Given the description of an element on the screen output the (x, y) to click on. 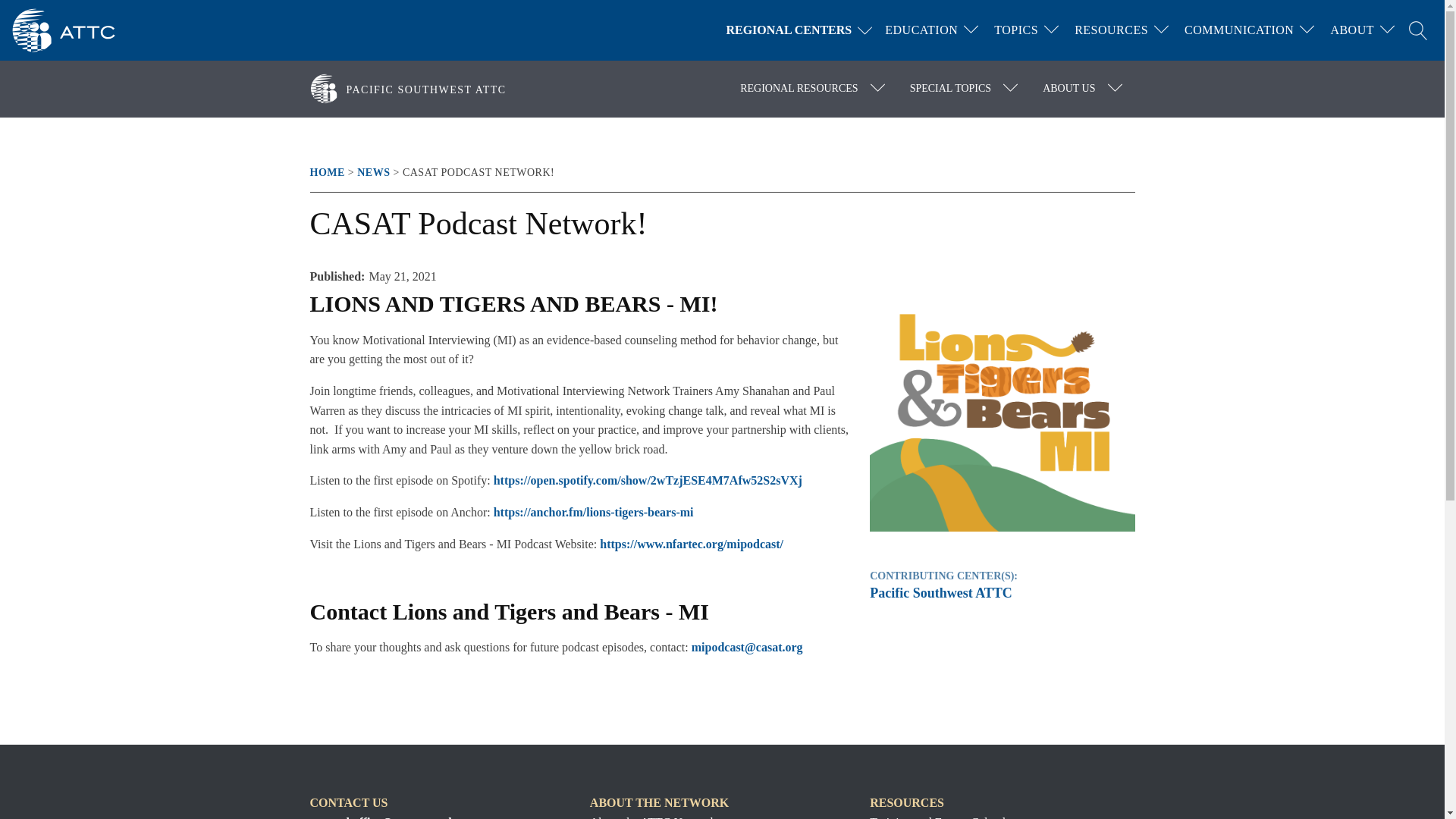
RESOURCES (1111, 30)
REGIONAL CENTERS (802, 30)
EDUCATION (921, 30)
TOPICS (1015, 30)
